Given the description of an element on the screen output the (x, y) to click on. 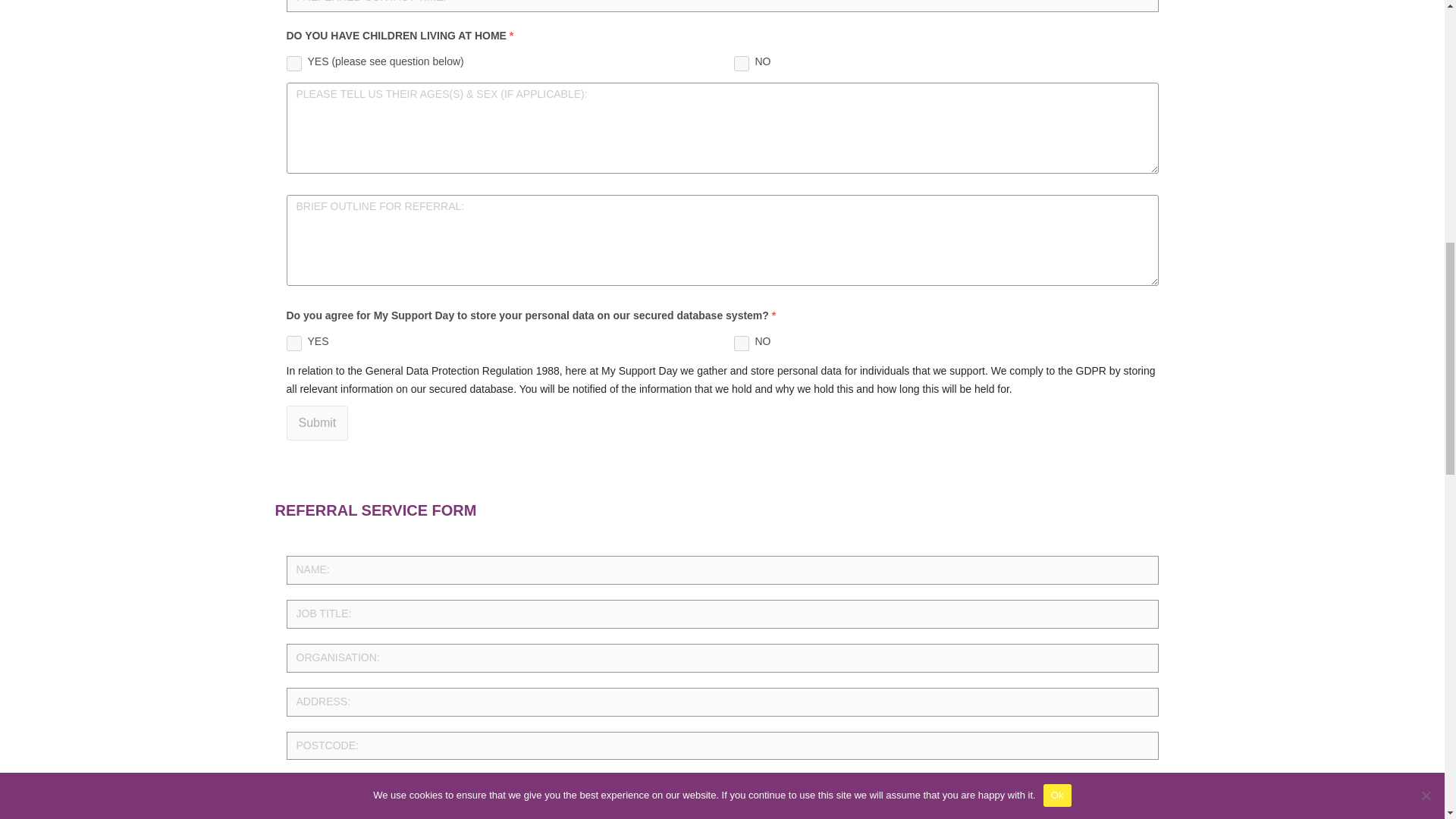
Required (773, 315)
Submit (317, 422)
NO (741, 63)
NO (741, 343)
YES (293, 343)
Required (511, 35)
